Given the description of an element on the screen output the (x, y) to click on. 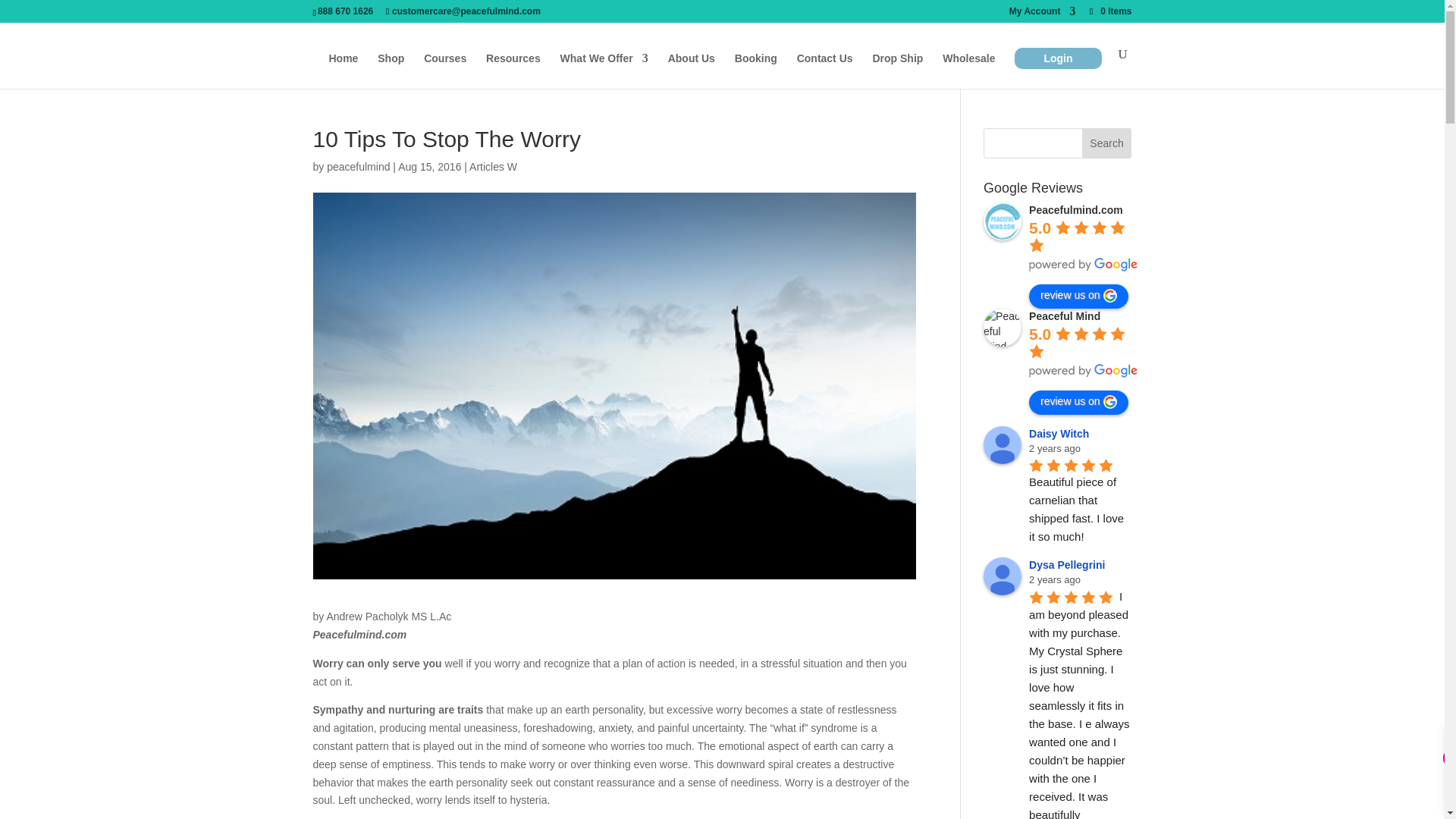
powered by Google (1083, 370)
Courses (444, 70)
Posts by peacefulmind (358, 166)
Search (1106, 142)
Peacefulmind.com (1003, 221)
My Account (1042, 14)
0 Items (1108, 10)
What We Offer (603, 70)
powered by Google (1083, 264)
Dysa Pellegrini (1003, 576)
